Given the description of an element on the screen output the (x, y) to click on. 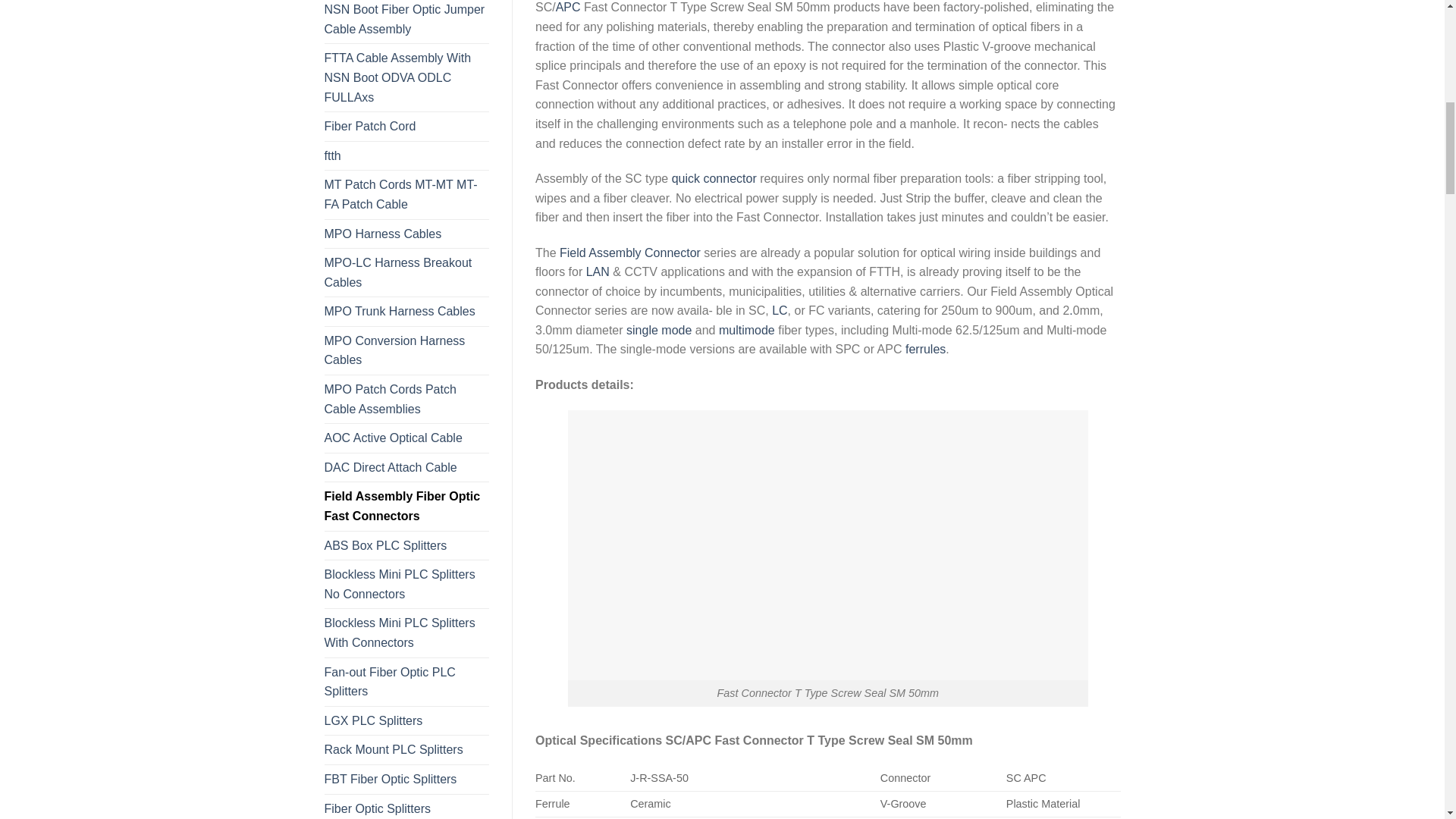
ftth (406, 155)
Single Mode (658, 329)
lan (598, 271)
NSN Boot Fiber Optic Jumper Cable Assembly (406, 21)
LC (779, 309)
MPO Harness Cables (406, 234)
MPO Trunk Harness Cables (406, 311)
MPO-LC Harness Breakout Cables (406, 272)
FTTA Cable Assembly With NSN Boot ODVA ODLC FULLAxs (406, 77)
ferrules (924, 349)
APC (568, 6)
Multimode (746, 329)
Fiber Patch Cord (406, 126)
MT Patch Cords MT-MT MT-FA Patch Cable (406, 194)
